Given the description of an element on the screen output the (x, y) to click on. 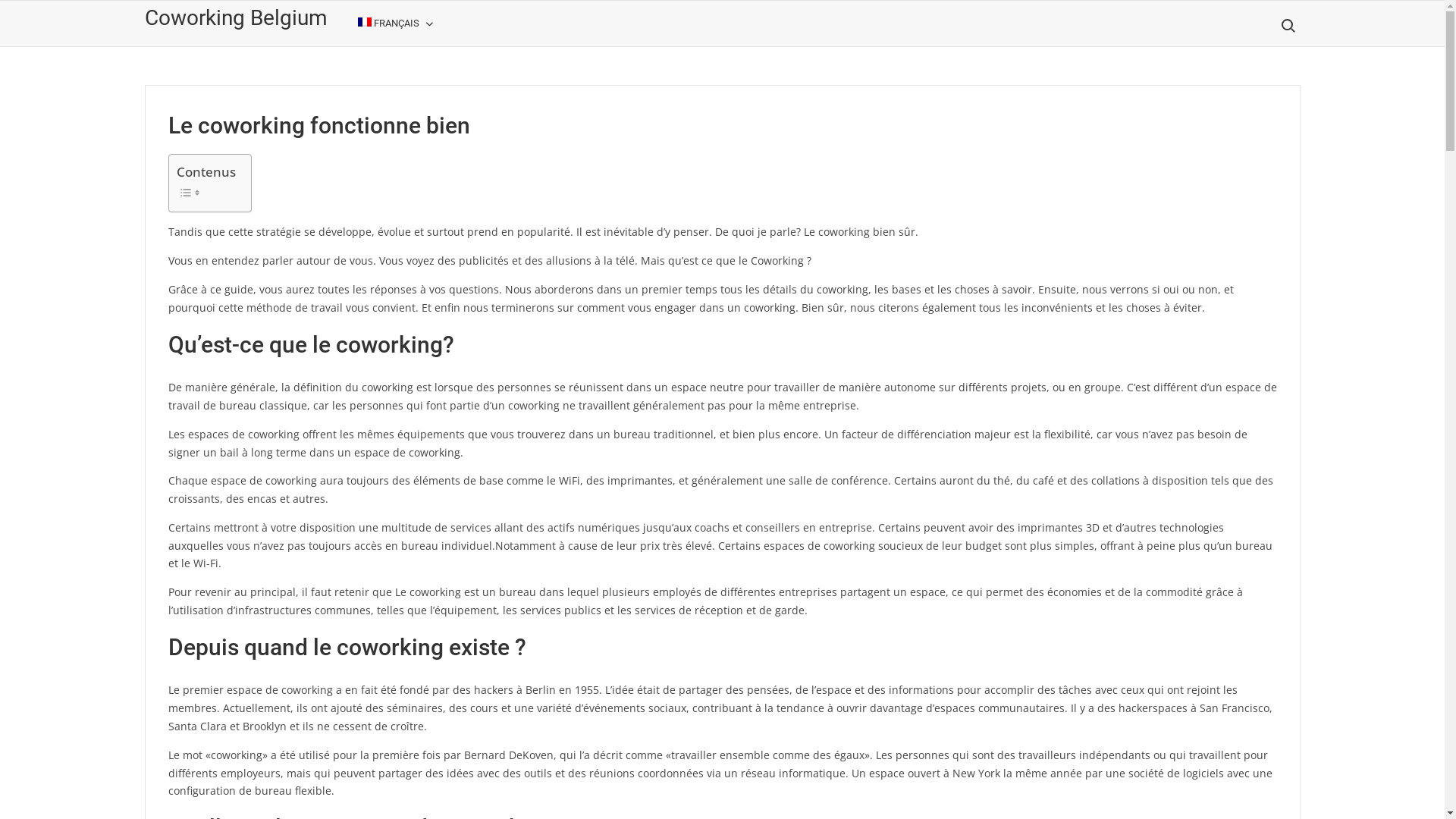
Search for: Element type: text (1286, 25)
Coworking Belgium Element type: text (235, 17)
